Given the description of an element on the screen output the (x, y) to click on. 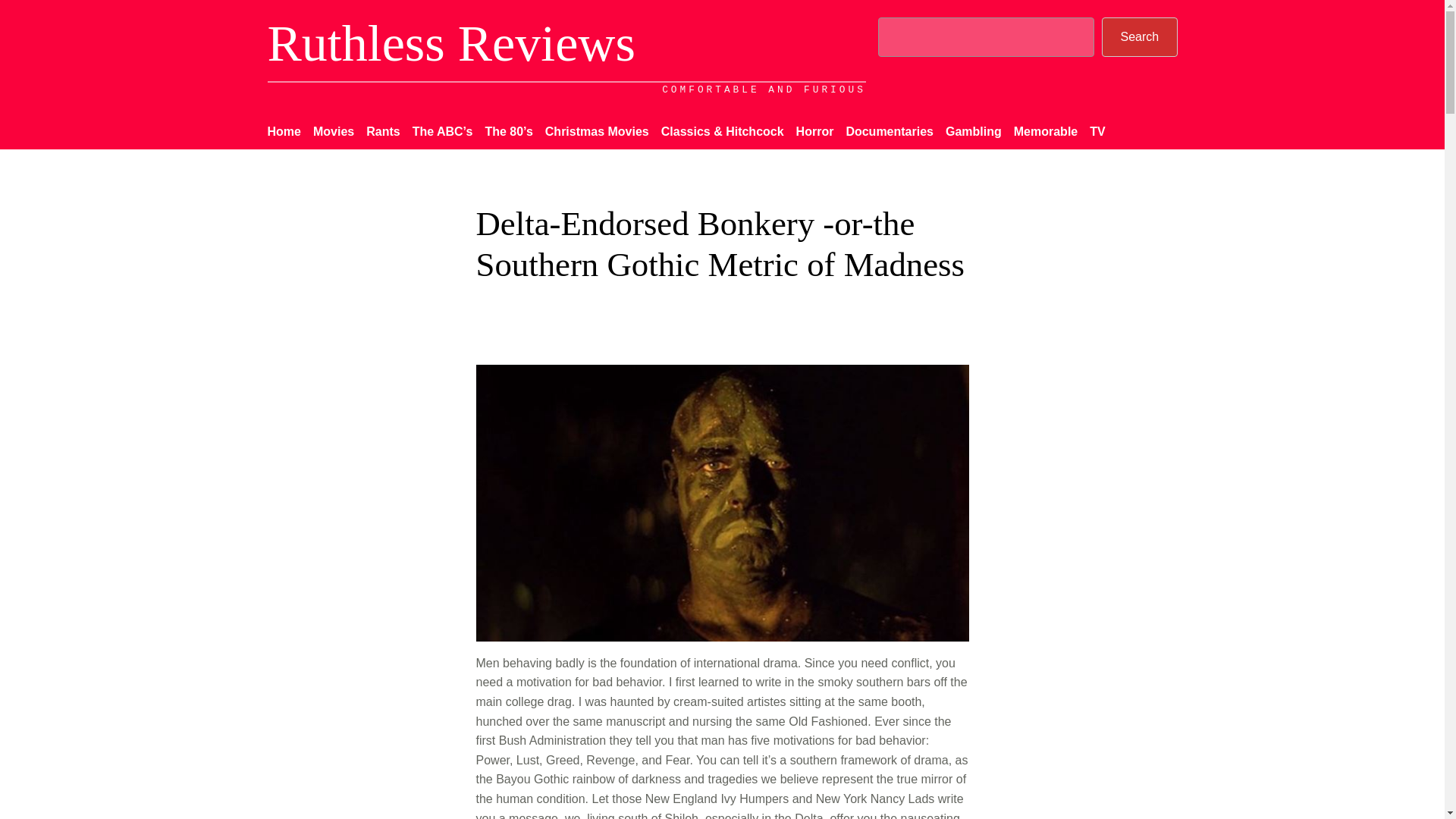
Ruthless Reviews (450, 42)
Memorable (1045, 131)
Horror (815, 131)
Rants (382, 131)
Gambling (972, 131)
Movies (333, 131)
Documentaries (889, 131)
Christmas Movies (596, 131)
Home (282, 131)
Search (1139, 36)
